Given the description of an element on the screen output the (x, y) to click on. 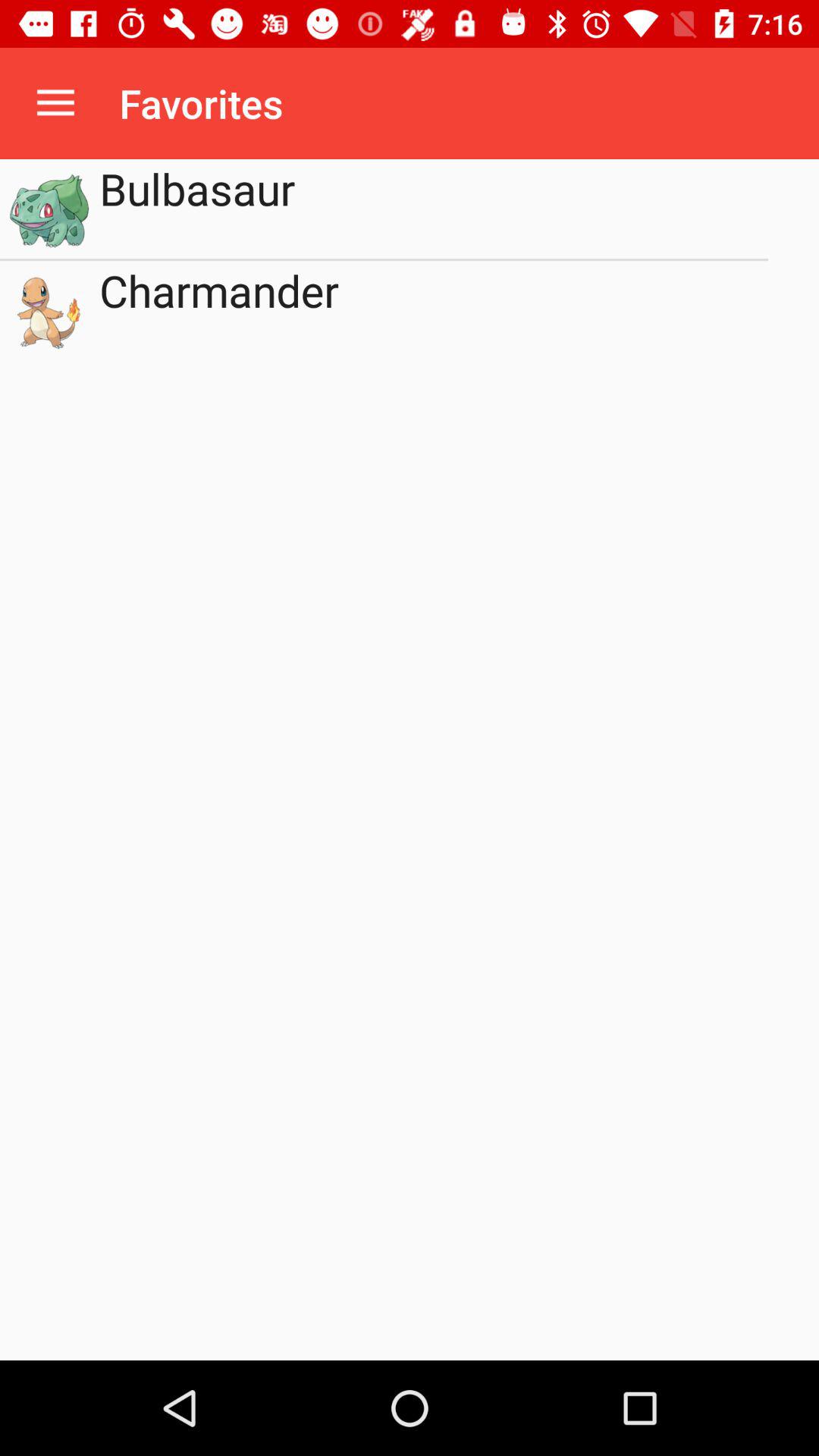
tap the charmander item (433, 310)
